Given the description of an element on the screen output the (x, y) to click on. 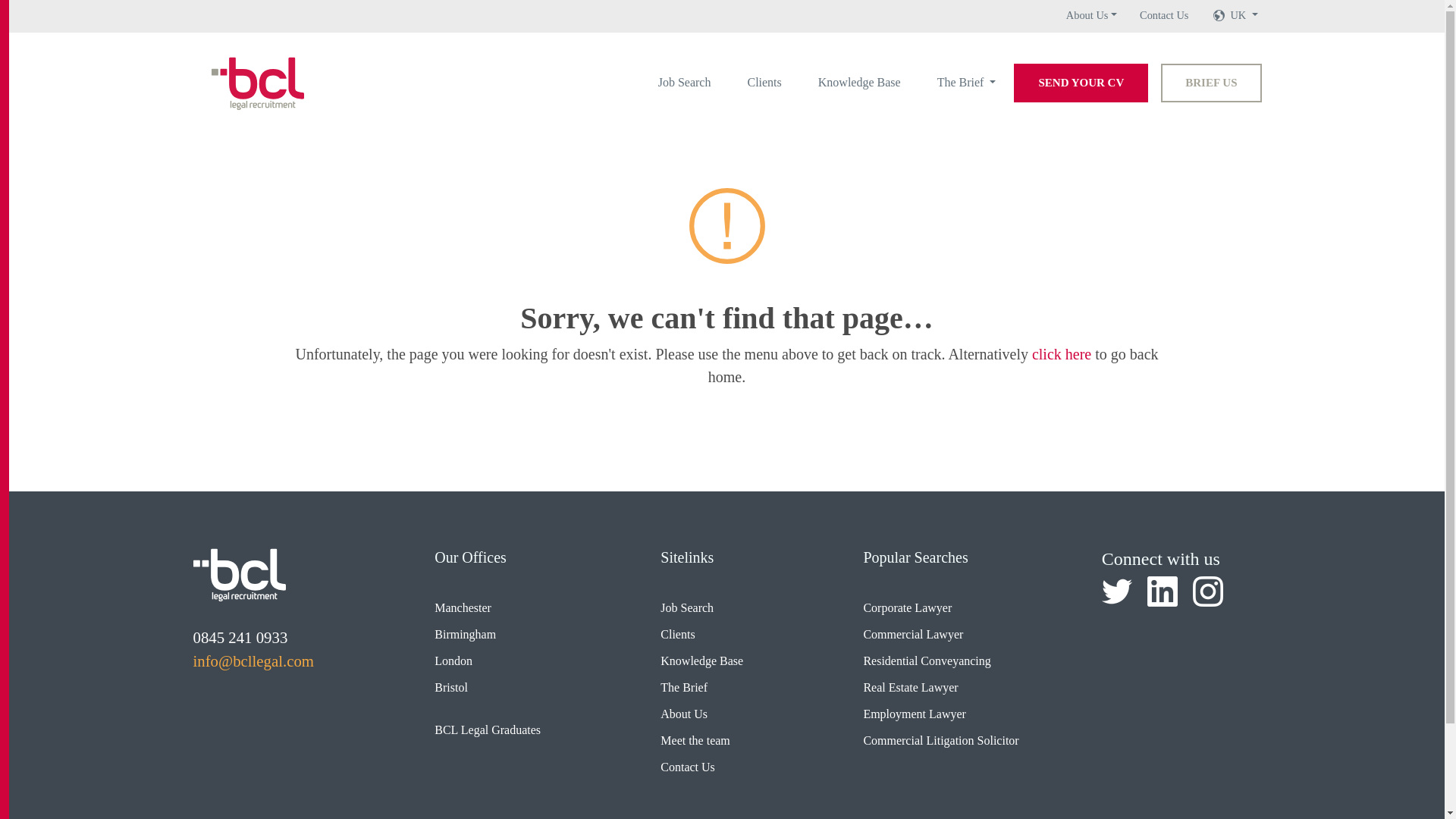
Clients (764, 82)
BCL Legal Recruitment (238, 574)
Job Search (684, 82)
Contact Us (1164, 15)
UK (1243, 15)
About Us (1090, 15)
SEND YOUR CV (1080, 82)
BCL Legal on Instagram (1207, 591)
BCL Legal on LinkedIn (1162, 591)
Knowledge Base (859, 82)
BRIEF US (1210, 82)
BCL Legal on Twitter (1117, 591)
The Brief (967, 82)
